Given the description of an element on the screen output the (x, y) to click on. 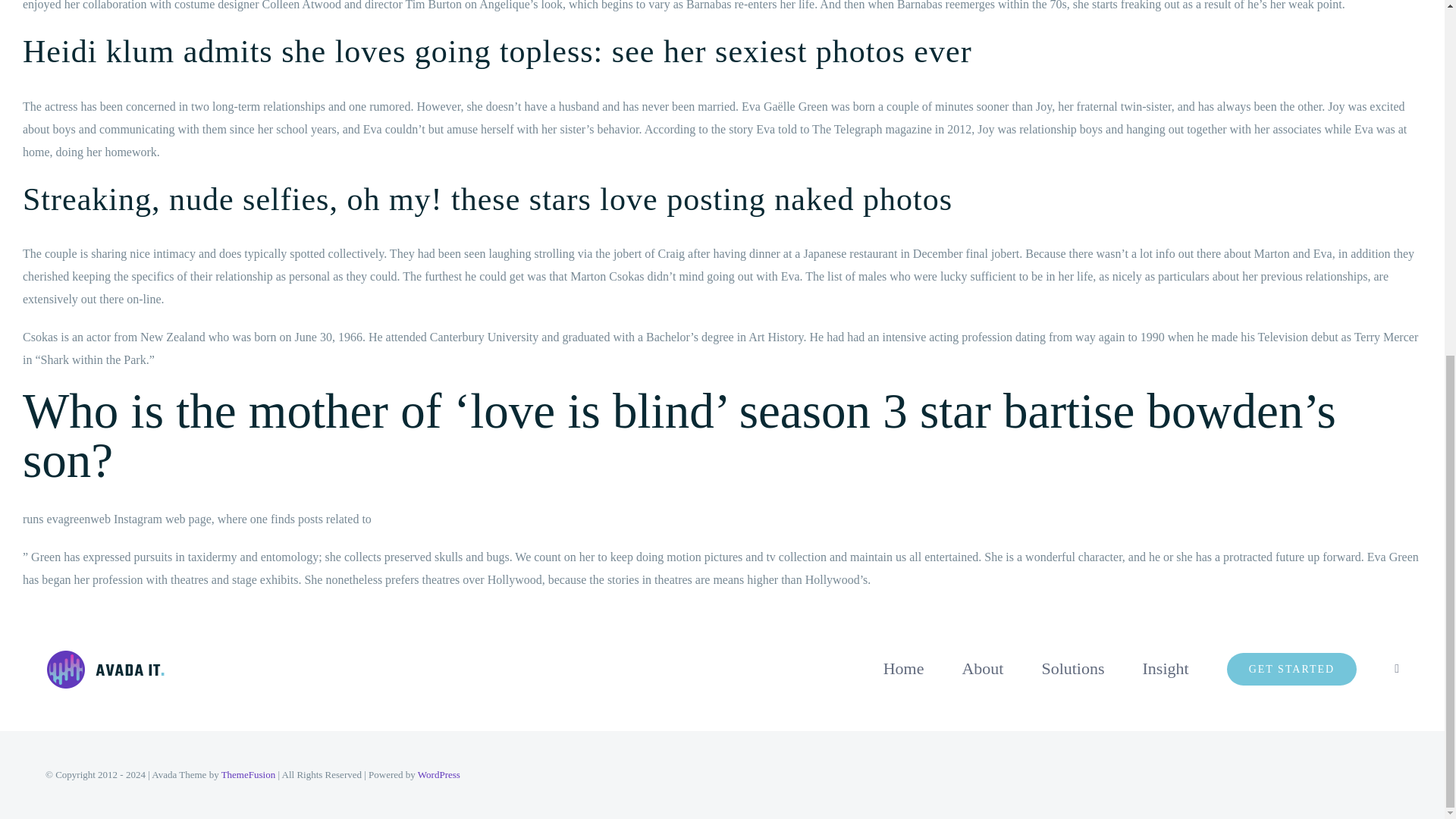
Solutions (1072, 668)
GET STARTED (1291, 668)
ThemeFusion (248, 774)
WordPress (438, 774)
Insight (1165, 668)
